Given the description of an element on the screen output the (x, y) to click on. 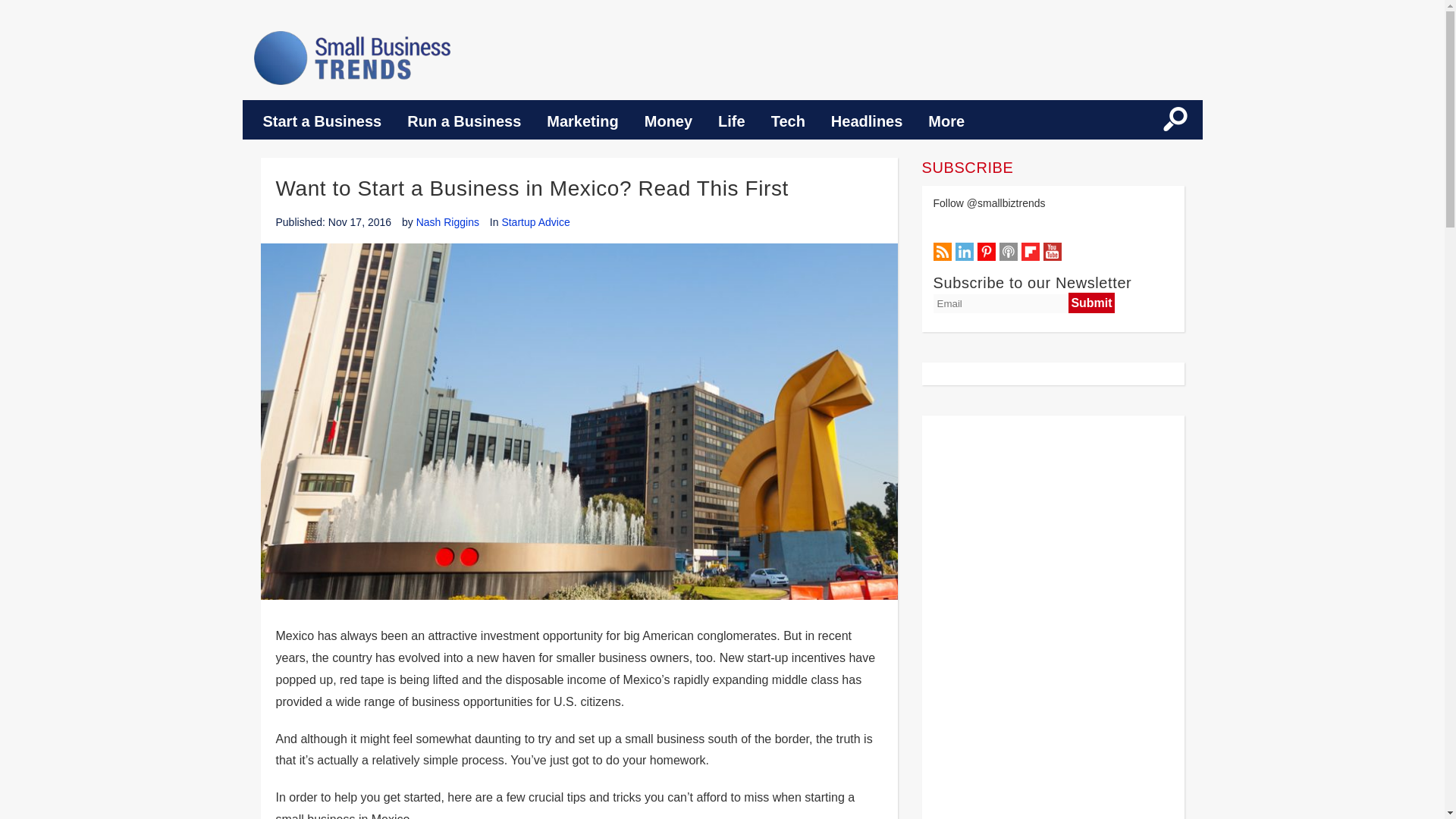
Money (667, 121)
Small Business Trends (351, 58)
Tech (788, 121)
Headlines (866, 121)
Run a Business (464, 121)
Life (731, 121)
Marketing (582, 121)
View all articles in Startup Advice (534, 222)
Start a Business (322, 121)
Posts by Nash Riggins (447, 222)
Small Business Trends (351, 58)
